Given the description of an element on the screen output the (x, y) to click on. 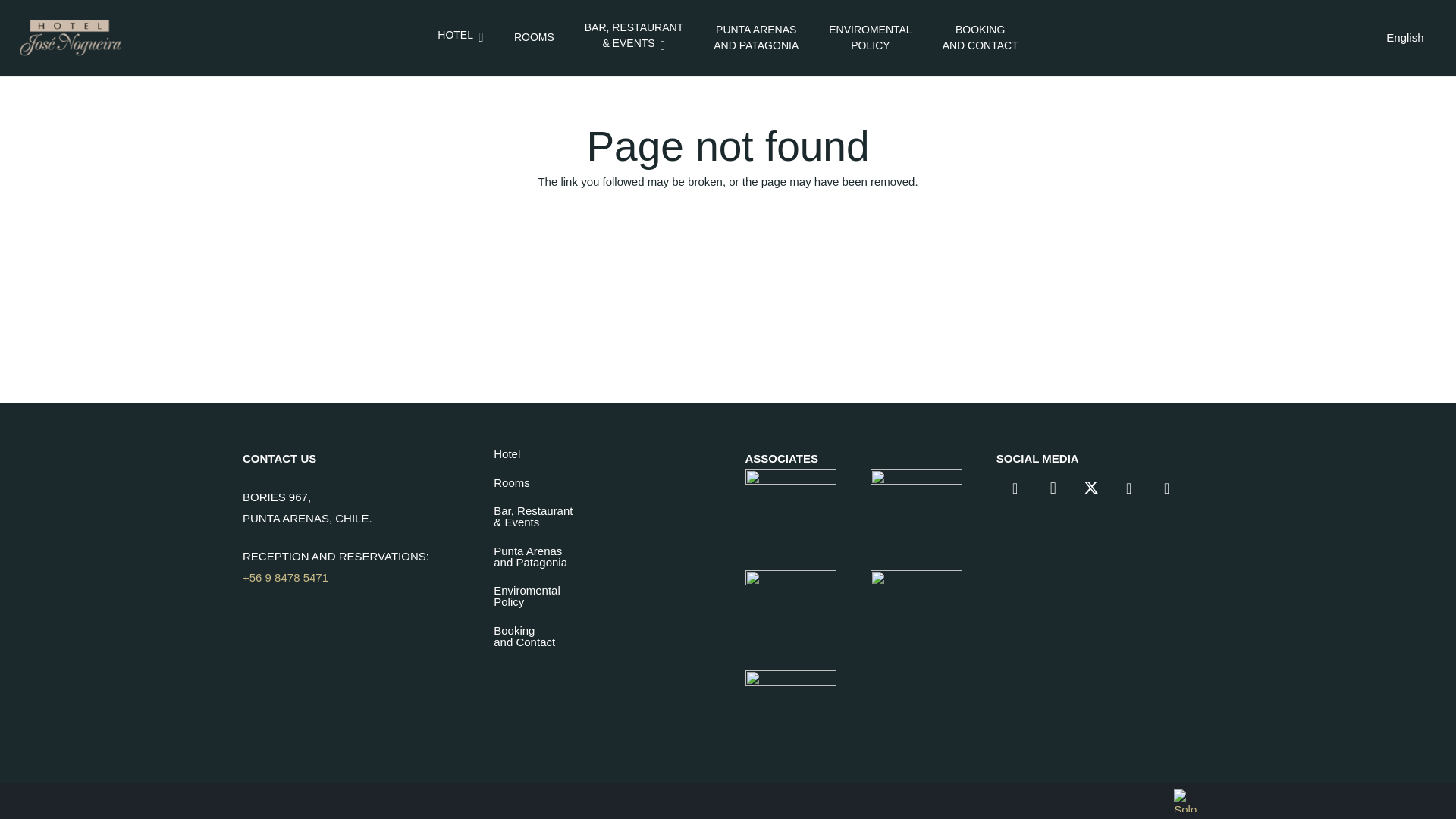
Rooms (526, 595)
HOTEL (511, 481)
Hotel (460, 37)
Facebook (530, 556)
ROOMS (506, 453)
Instagram (1014, 487)
English (534, 37)
